Given the description of an element on the screen output the (x, y) to click on. 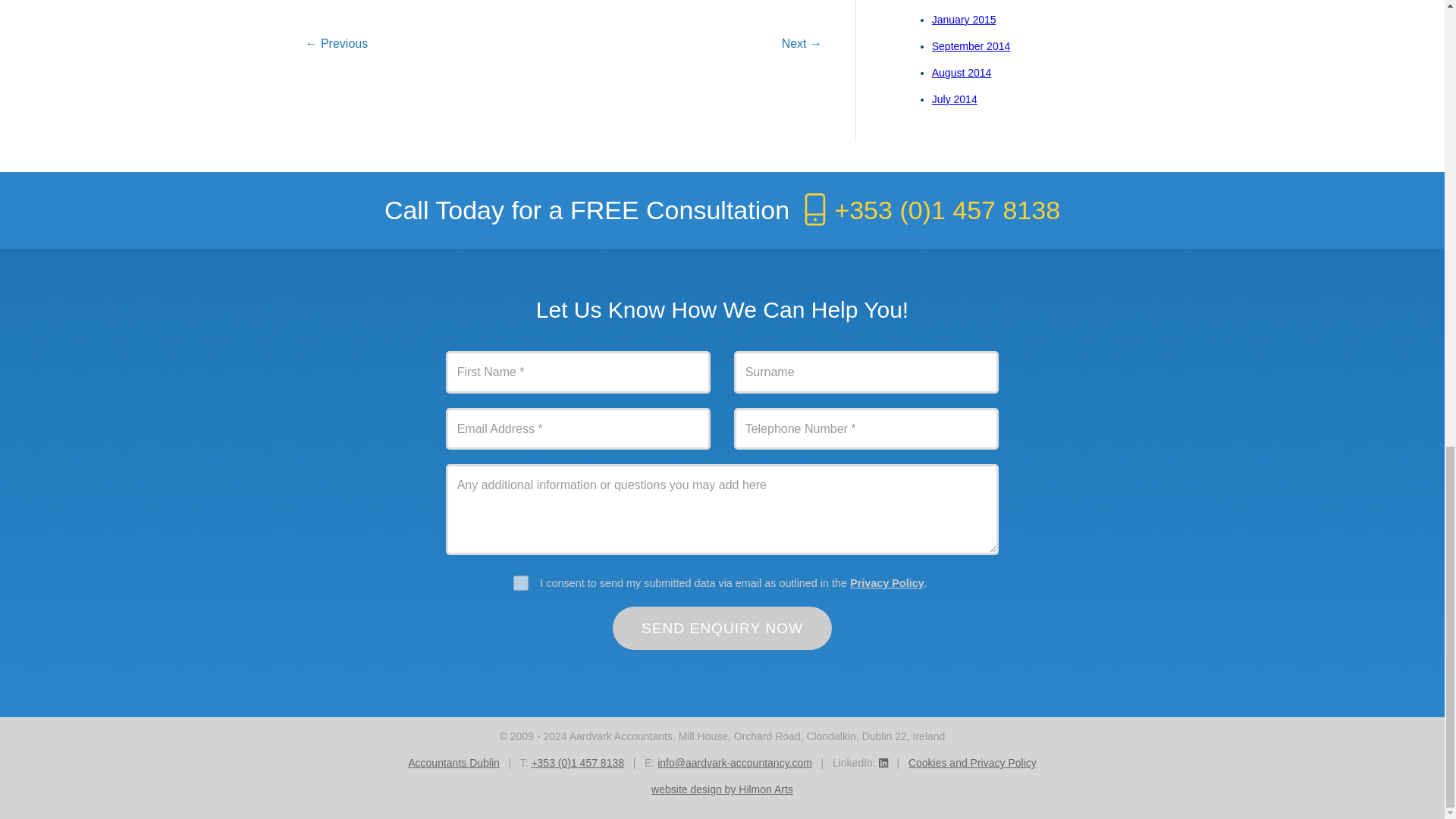
1 (520, 582)
Accountants Dublin (453, 762)
SEND ENQUIRY NOW (722, 628)
